Given the description of an element on the screen output the (x, y) to click on. 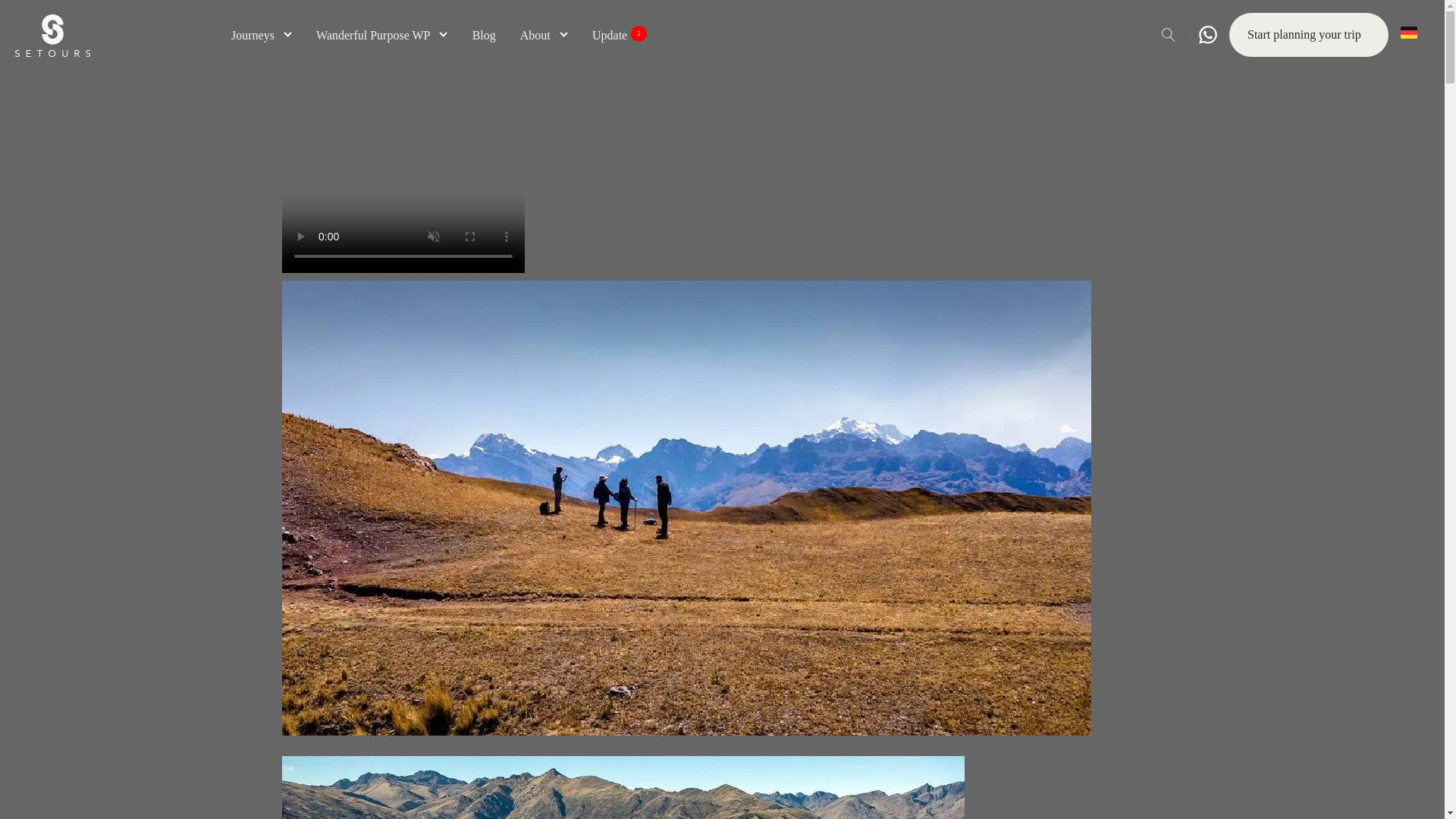
About (543, 34)
Search (32, 20)
Journeys (261, 34)
Wanderful Purpose WP (619, 34)
Blog (381, 34)
